Given the description of an element on the screen output the (x, y) to click on. 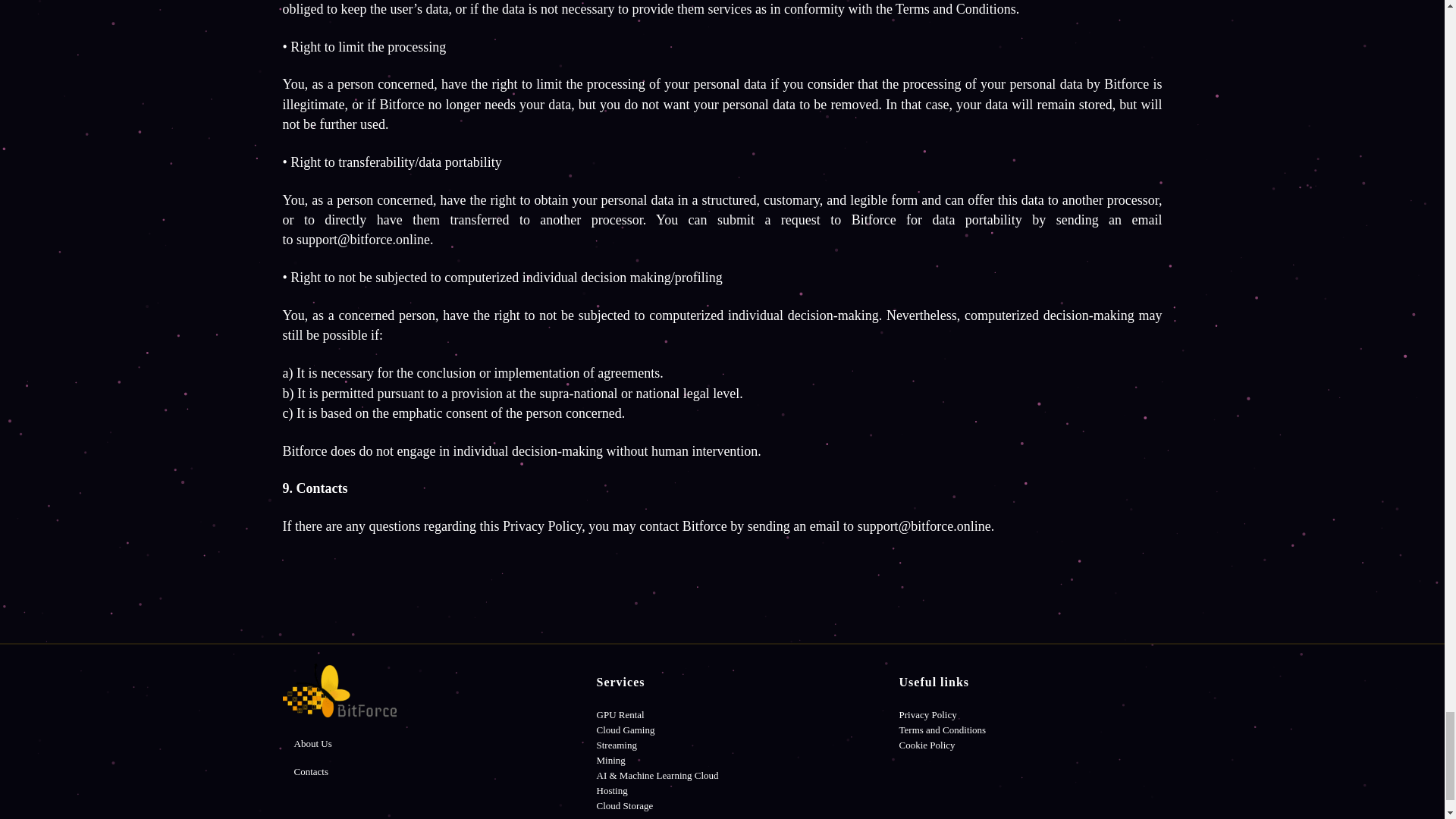
Hosting (611, 790)
Privacy Policy (927, 714)
About Us (312, 743)
Cloud Gaming (625, 729)
Cookie Policy (927, 745)
bitforce-logo (339, 690)
Terms and Conditions (943, 729)
Contacts (311, 771)
Streaming (616, 745)
Cloud Storage (624, 805)
